Given the description of an element on the screen output the (x, y) to click on. 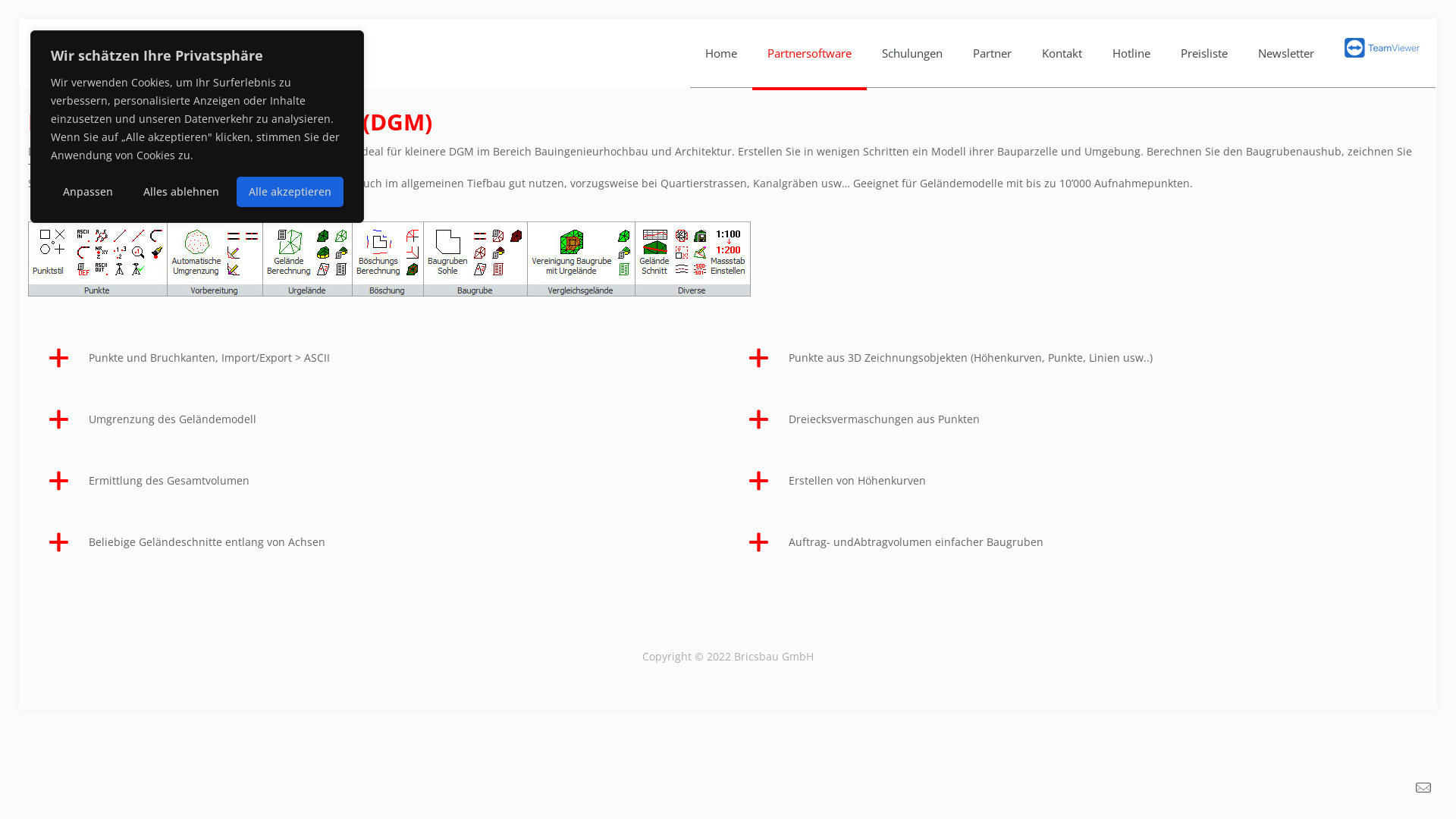
Partner Element type: text (991, 52)
Schulungen Element type: text (911, 52)
Alles ablehnen Element type: text (181, 191)
Preisliste Element type: text (1203, 52)
Home Element type: text (721, 52)
Bricsbau GmbH Element type: hover (128, 52)
Alle akzeptieren Element type: text (289, 191)
Anpassen Element type: text (87, 191)
Kontakt Element type: text (1061, 52)
Newsletter Element type: text (1285, 52)
Partnersoftware Element type: text (809, 52)
Hotline Element type: text (1131, 52)
